Given the description of an element on the screen output the (x, y) to click on. 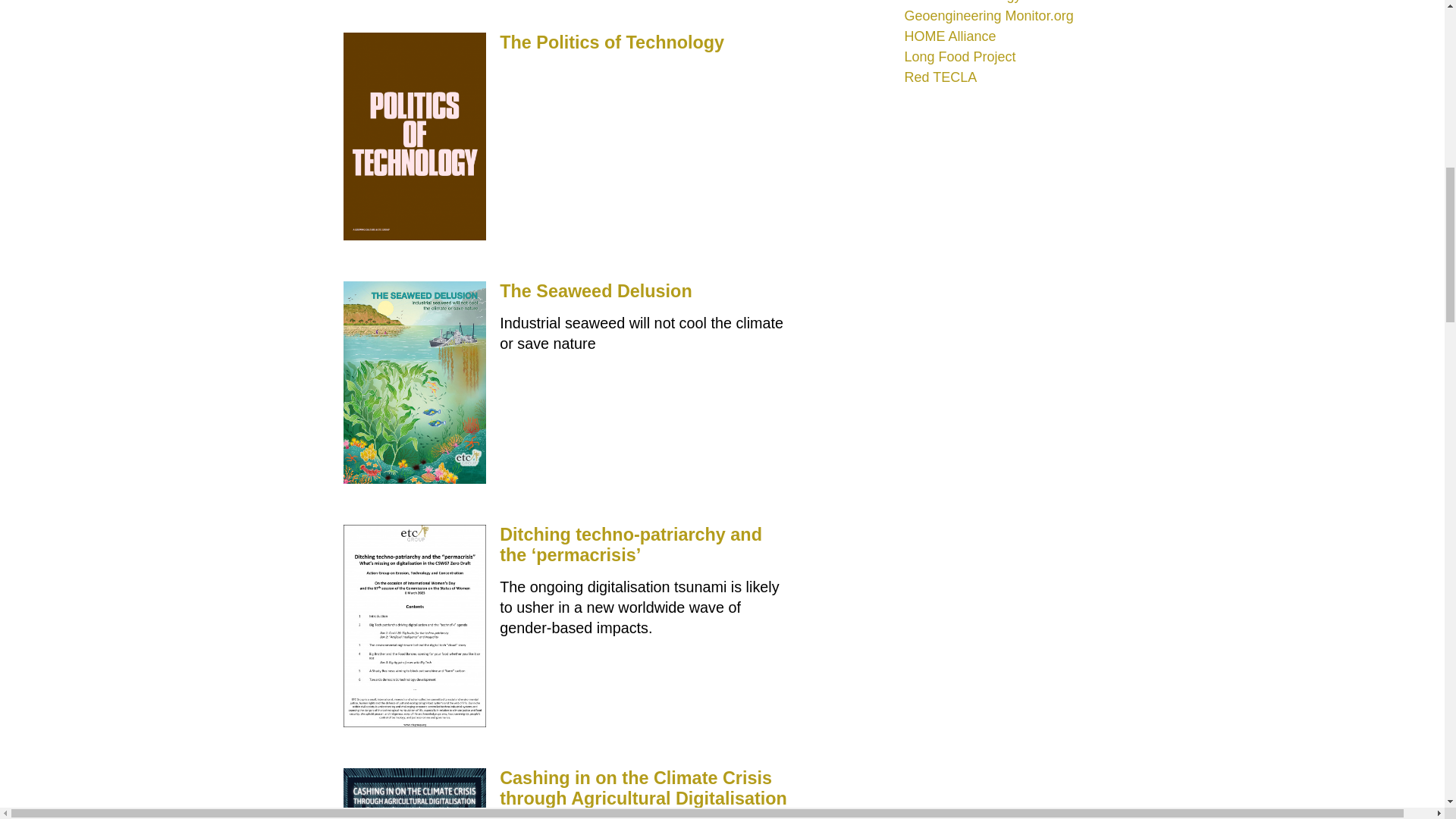
The Seaweed Delusion (595, 291)
The Politics of Technology (611, 42)
